Given the description of an element on the screen output the (x, y) to click on. 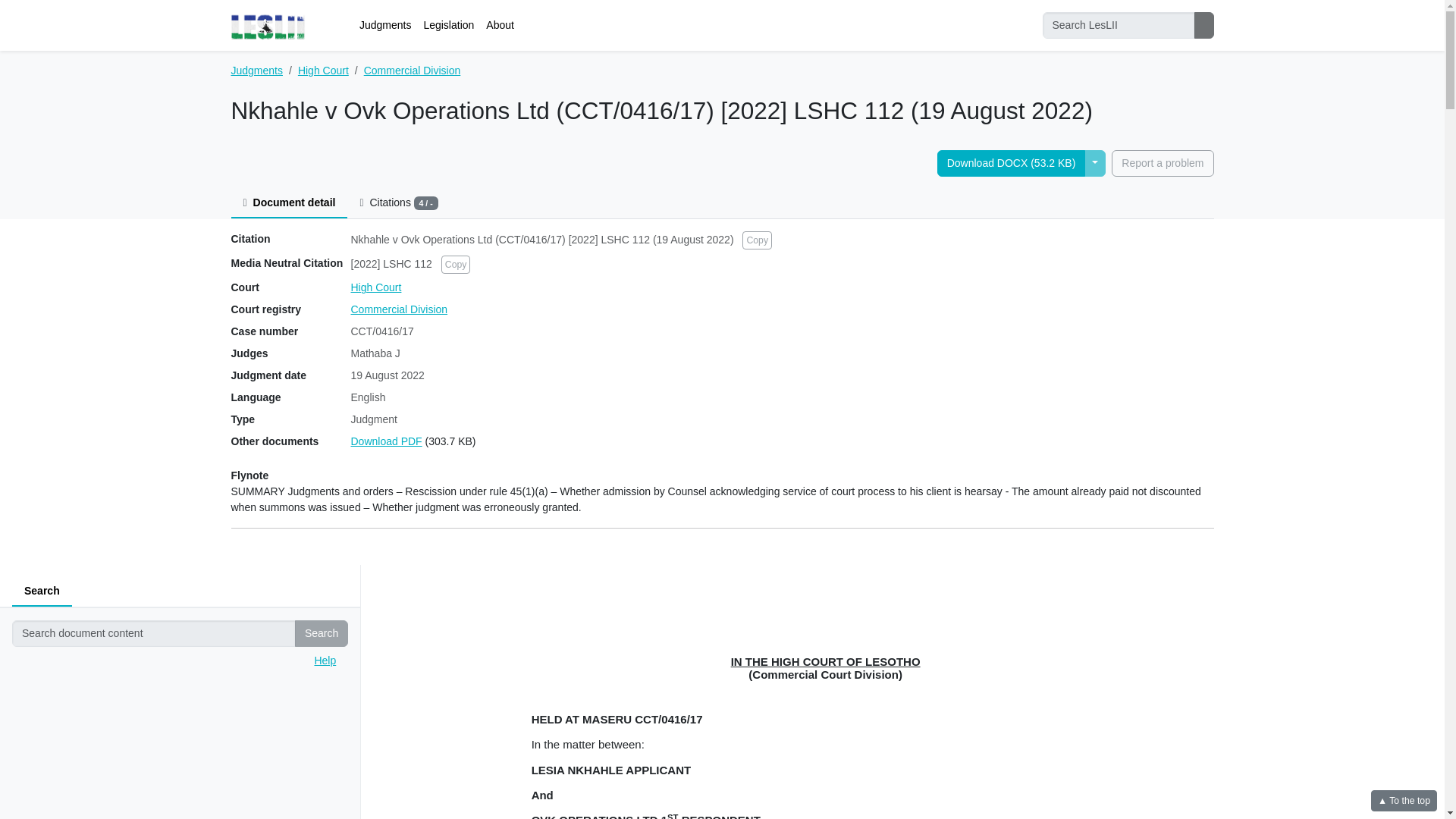
Commercial Division (398, 309)
High Court (323, 70)
Report a problem (1162, 162)
Search (41, 591)
Legislation (448, 25)
High Court (375, 287)
Document detail (288, 203)
Commercial Division (412, 70)
Judgments (384, 25)
Copy to clipboard (756, 239)
Search (321, 633)
About (499, 25)
Help (323, 660)
Judgments (256, 70)
Download PDF (386, 440)
